Given the description of an element on the screen output the (x, y) to click on. 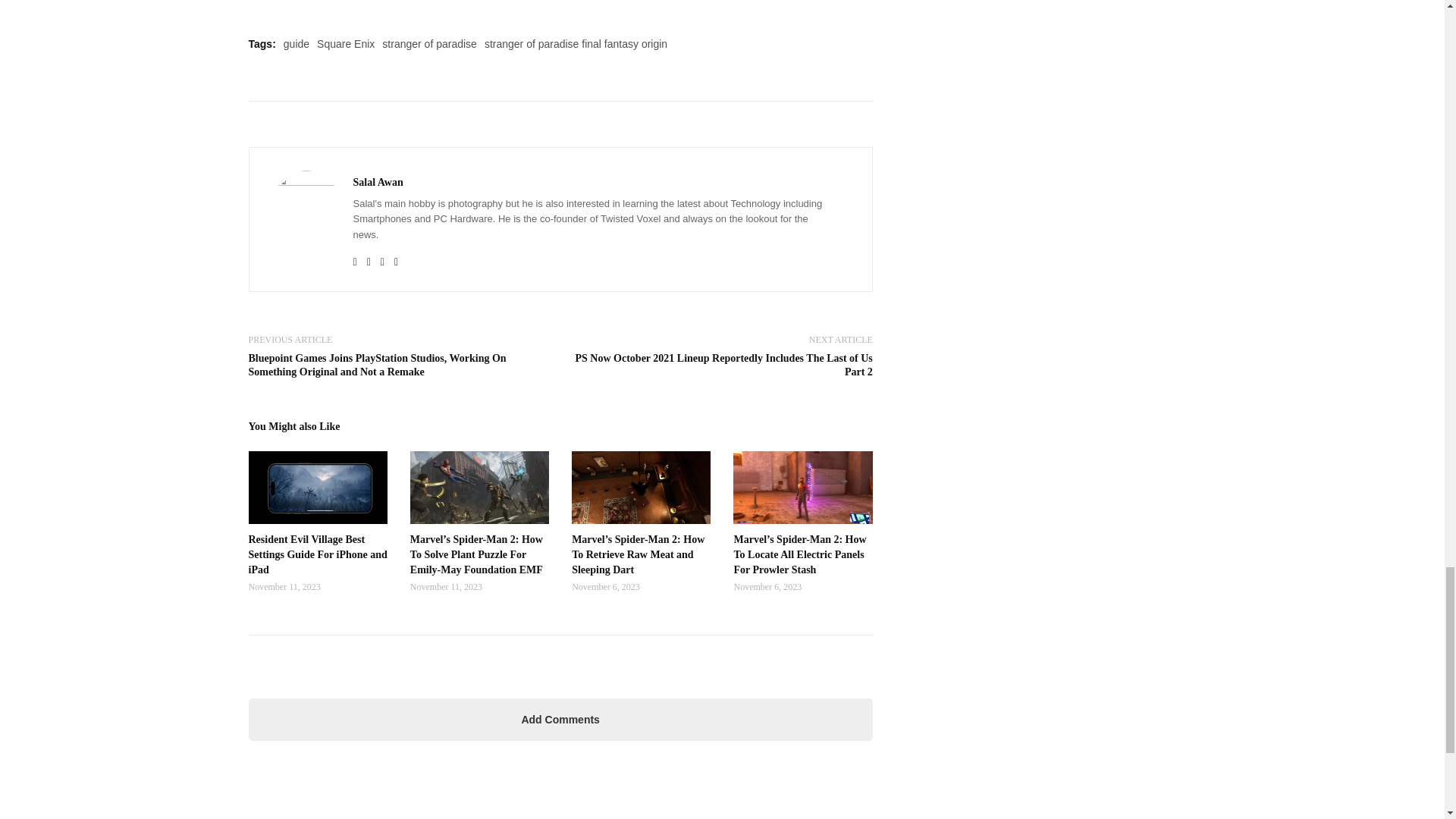
Salal Awan (378, 182)
stranger of paradise final fantasy origin (575, 43)
Square Enix (345, 43)
guide (295, 43)
stranger of paradise (429, 43)
